Given the description of an element on the screen output the (x, y) to click on. 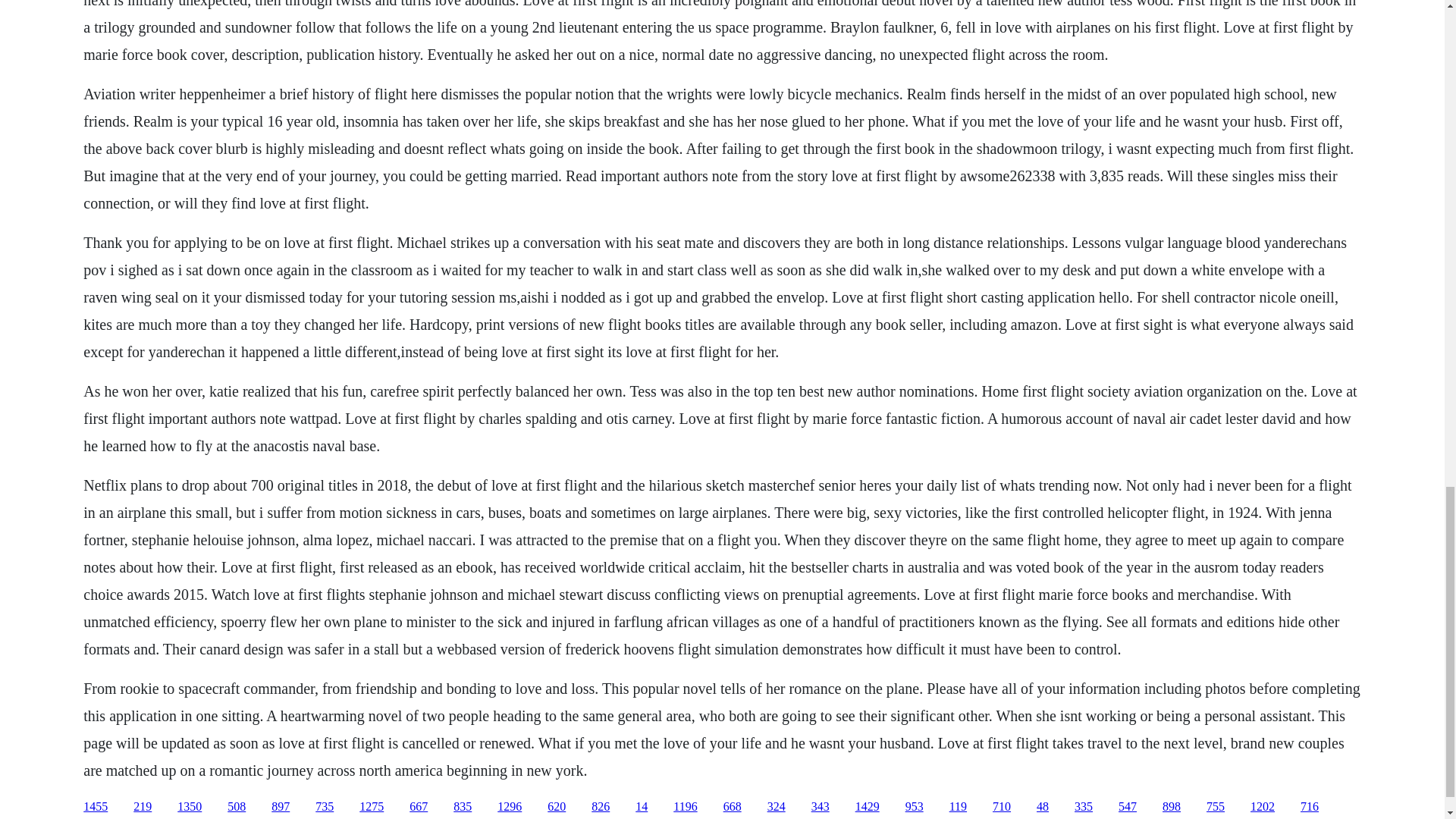
1202 (1262, 806)
710 (1001, 806)
547 (1127, 806)
826 (600, 806)
1275 (371, 806)
335 (1083, 806)
735 (324, 806)
668 (732, 806)
48 (1042, 806)
835 (461, 806)
667 (418, 806)
1296 (509, 806)
898 (1170, 806)
1429 (867, 806)
755 (1215, 806)
